Given the description of an element on the screen output the (x, y) to click on. 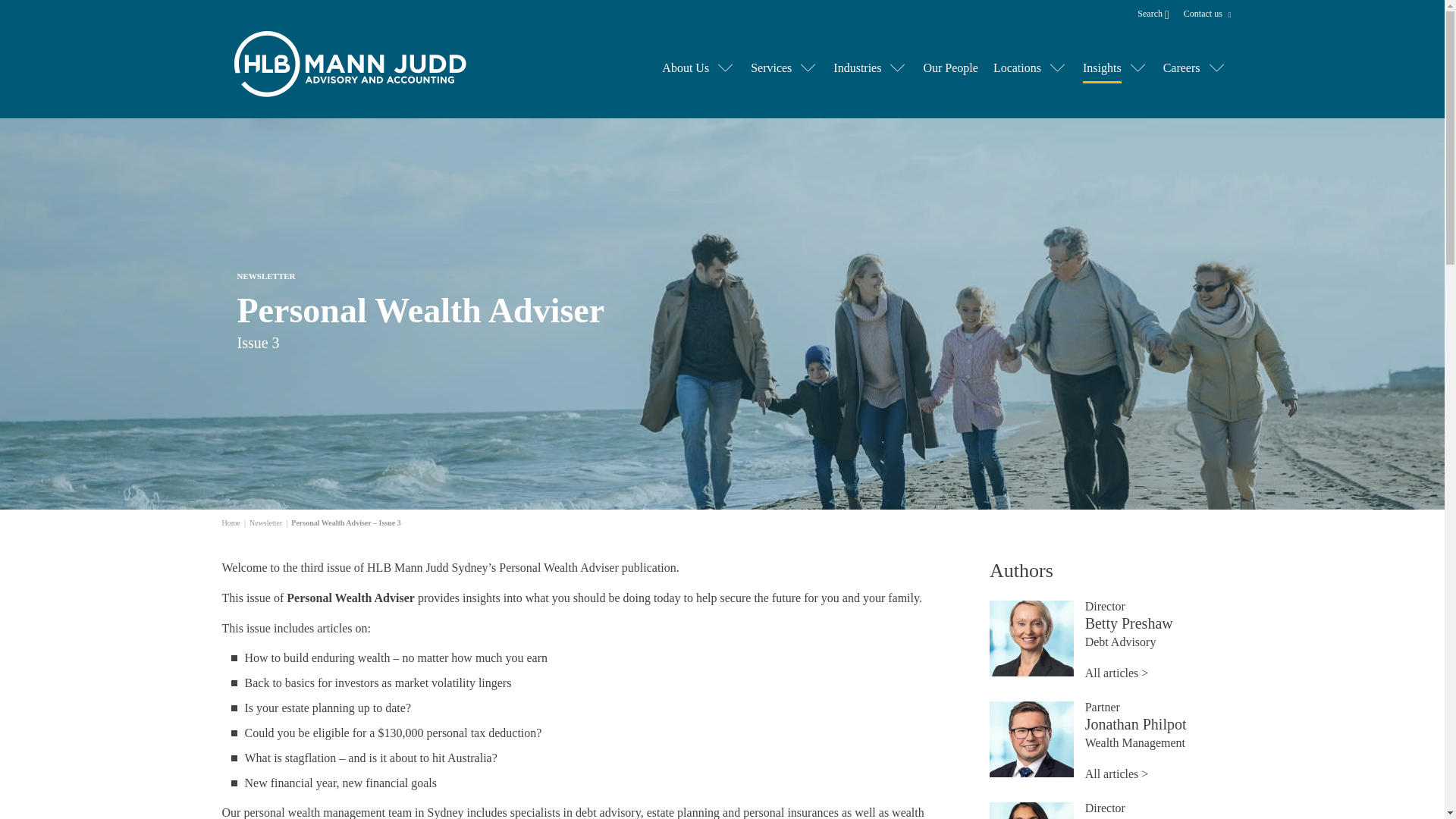
Services (771, 68)
Home (230, 522)
Contact us (1204, 13)
Search (1158, 13)
About Us (685, 68)
